Given the description of an element on the screen output the (x, y) to click on. 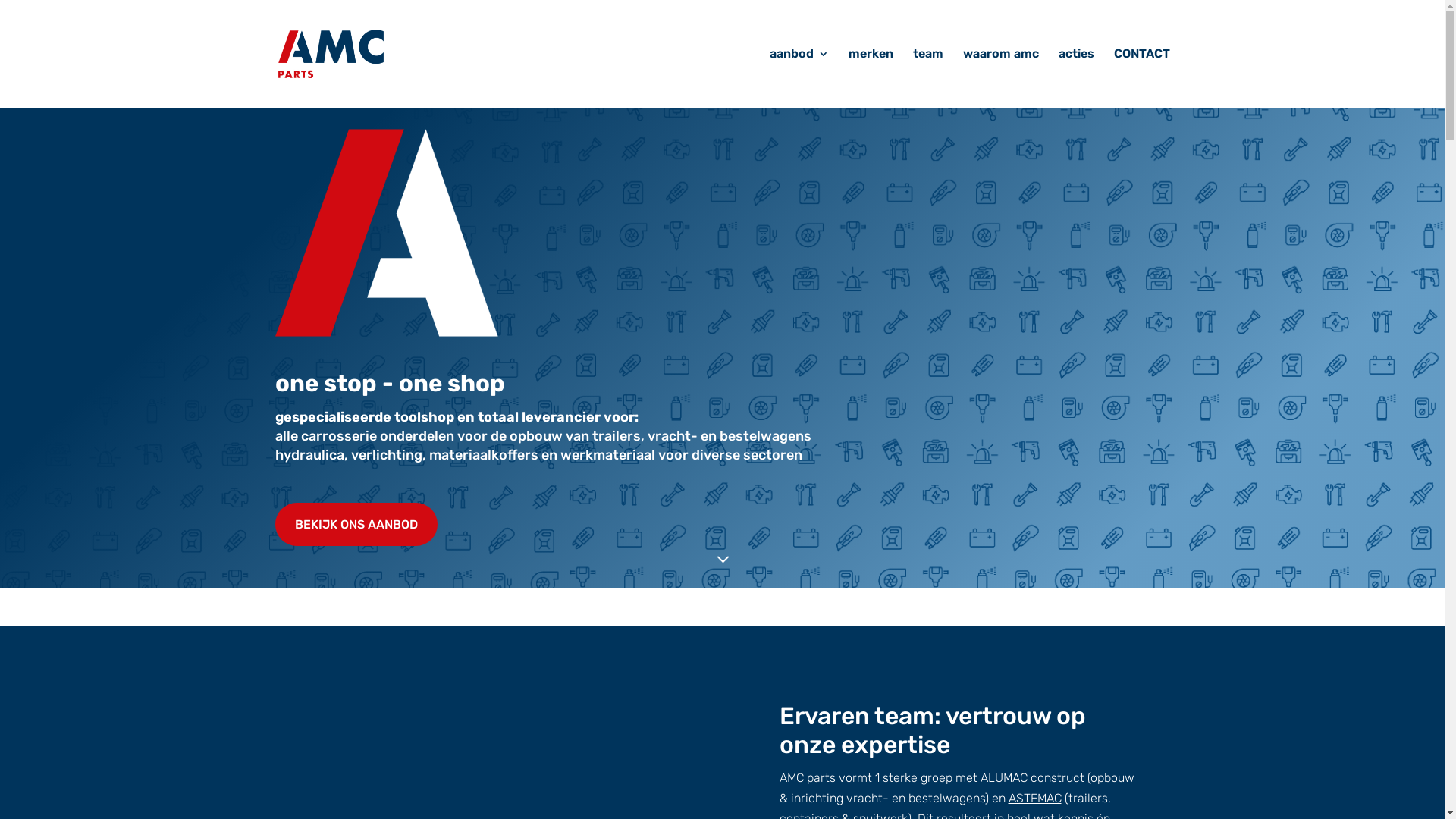
team Element type: text (928, 77)
aanbod Element type: text (798, 77)
merken Element type: text (869, 77)
ALUMAC construct Element type: text (1031, 777)
acties Element type: text (1076, 77)
ASTEMAC Element type: text (1034, 797)
BEKIJK ONS AANBOD Element type: text (355, 524)
3 Element type: text (721, 560)
CONTACT Element type: text (1141, 77)
waarom amc Element type: text (1000, 77)
